Given the description of an element on the screen output the (x, y) to click on. 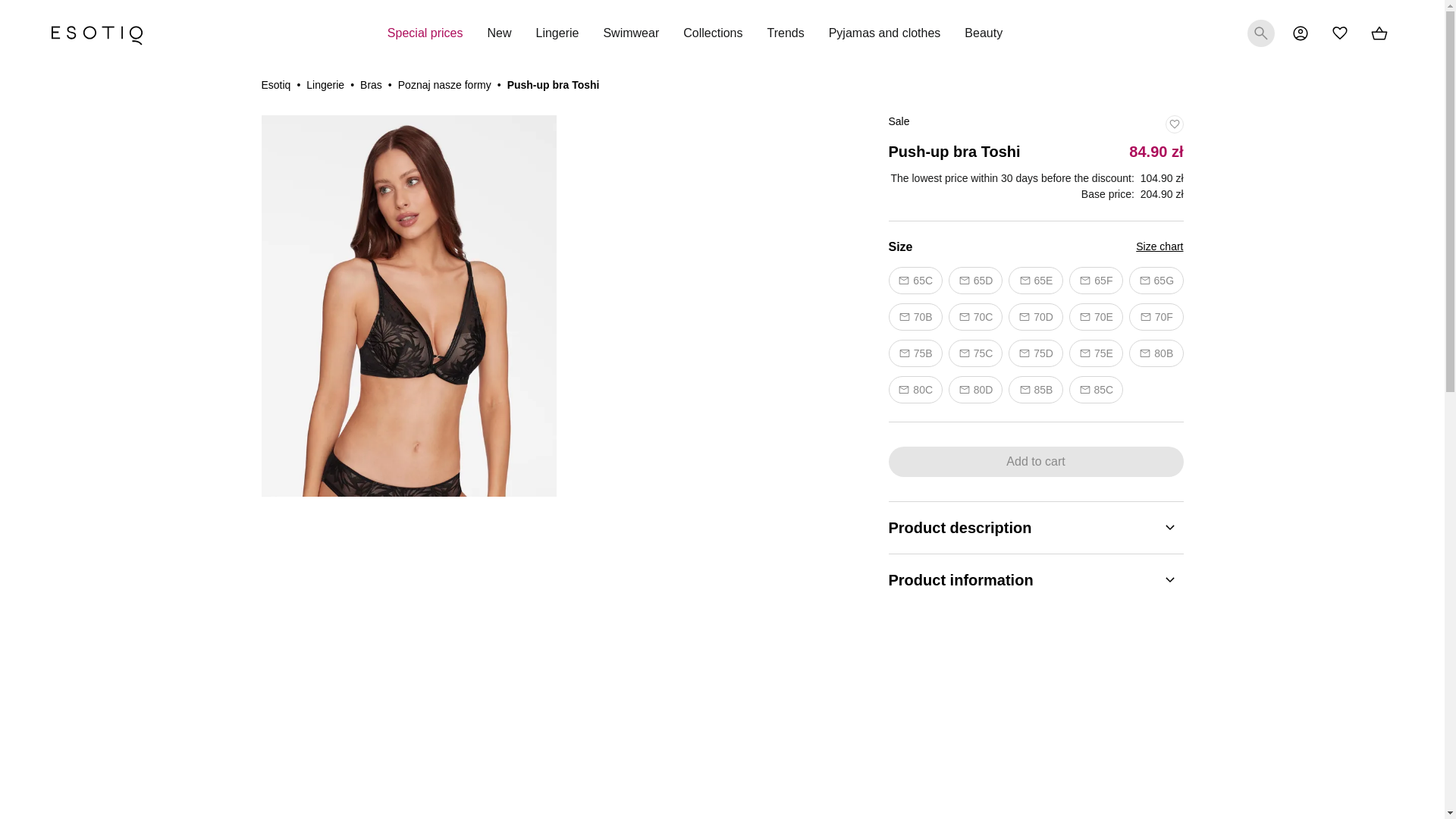
New (498, 32)
Special prices (425, 32)
Lingerie (556, 32)
Swimwear (630, 32)
